Given the description of an element on the screen output the (x, y) to click on. 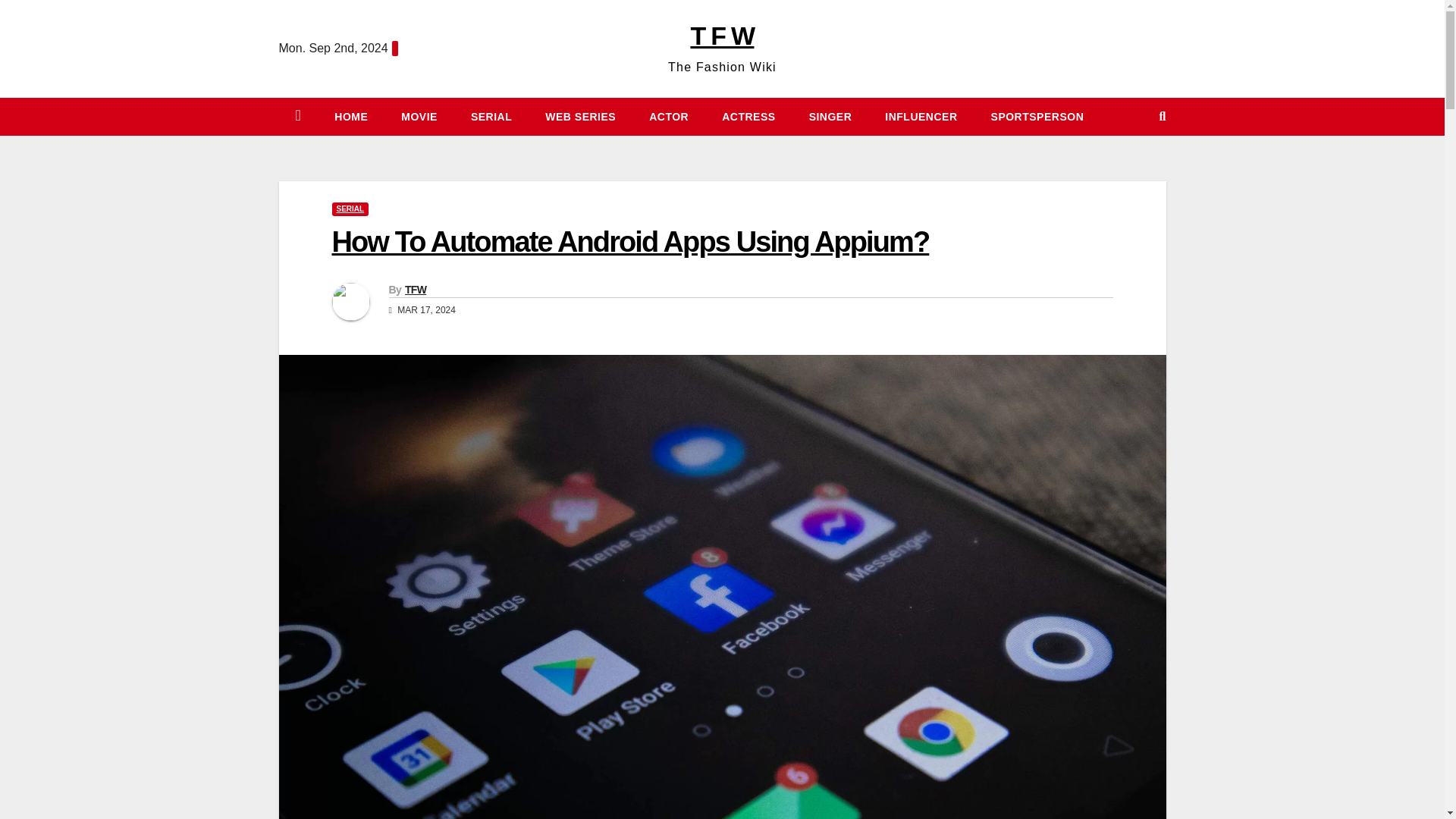
ACTOR (667, 116)
How To Automate Android Apps Using Appium? (630, 241)
Sportsperson (1037, 116)
SINGER (830, 116)
Influencer (920, 116)
INFLUENCER (920, 116)
Actress (748, 116)
ACTRESS (748, 116)
MOVIE (419, 116)
Web Series (579, 116)
